Given the description of an element on the screen output the (x, y) to click on. 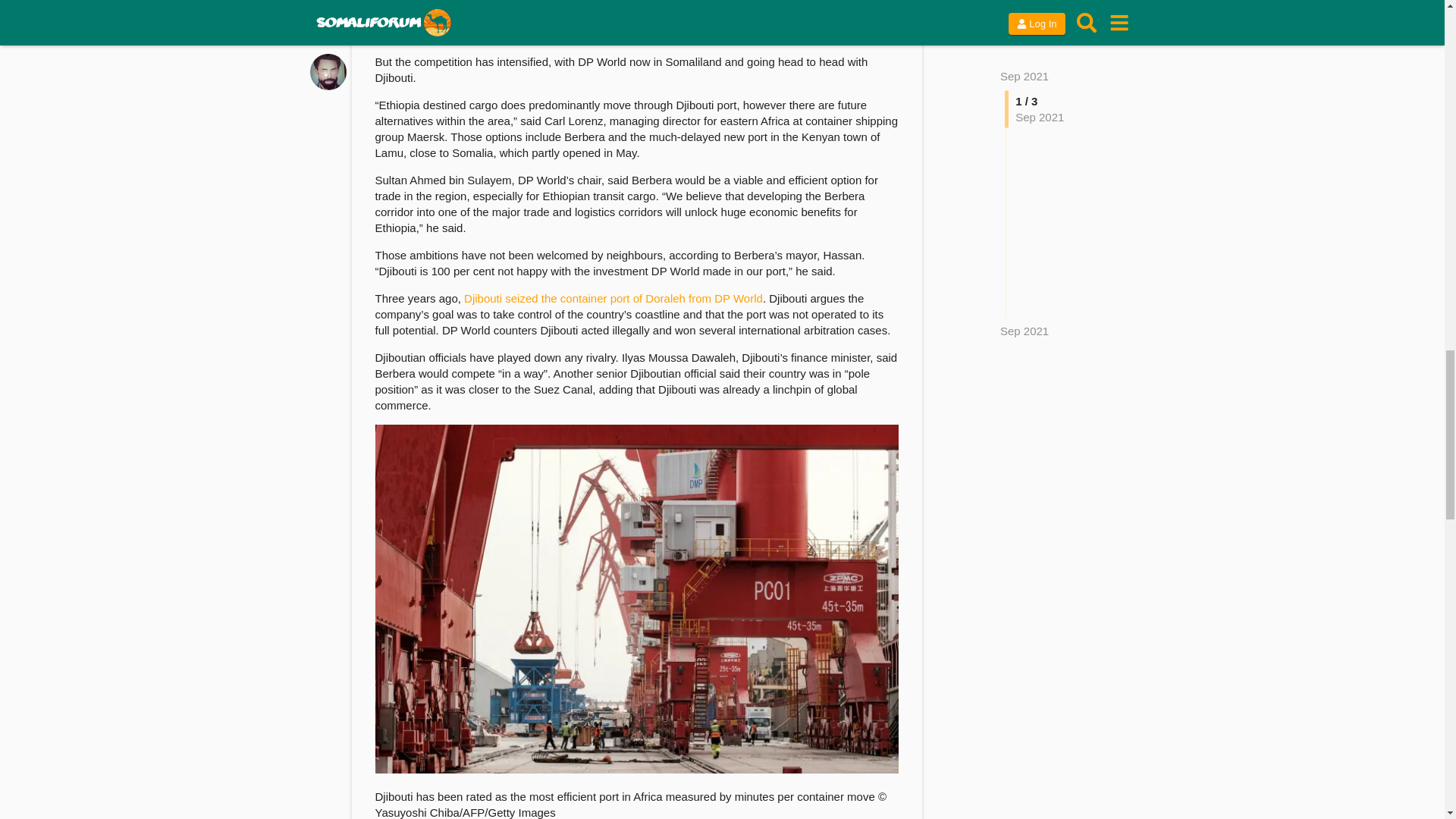
Djibouti seized the container port of Doraleh from DP World (613, 297)
privileged location on the strait of Bab-el-Mandeb (676, 18)
1m TEU (627, 26)
